Given the description of an element on the screen output the (x, y) to click on. 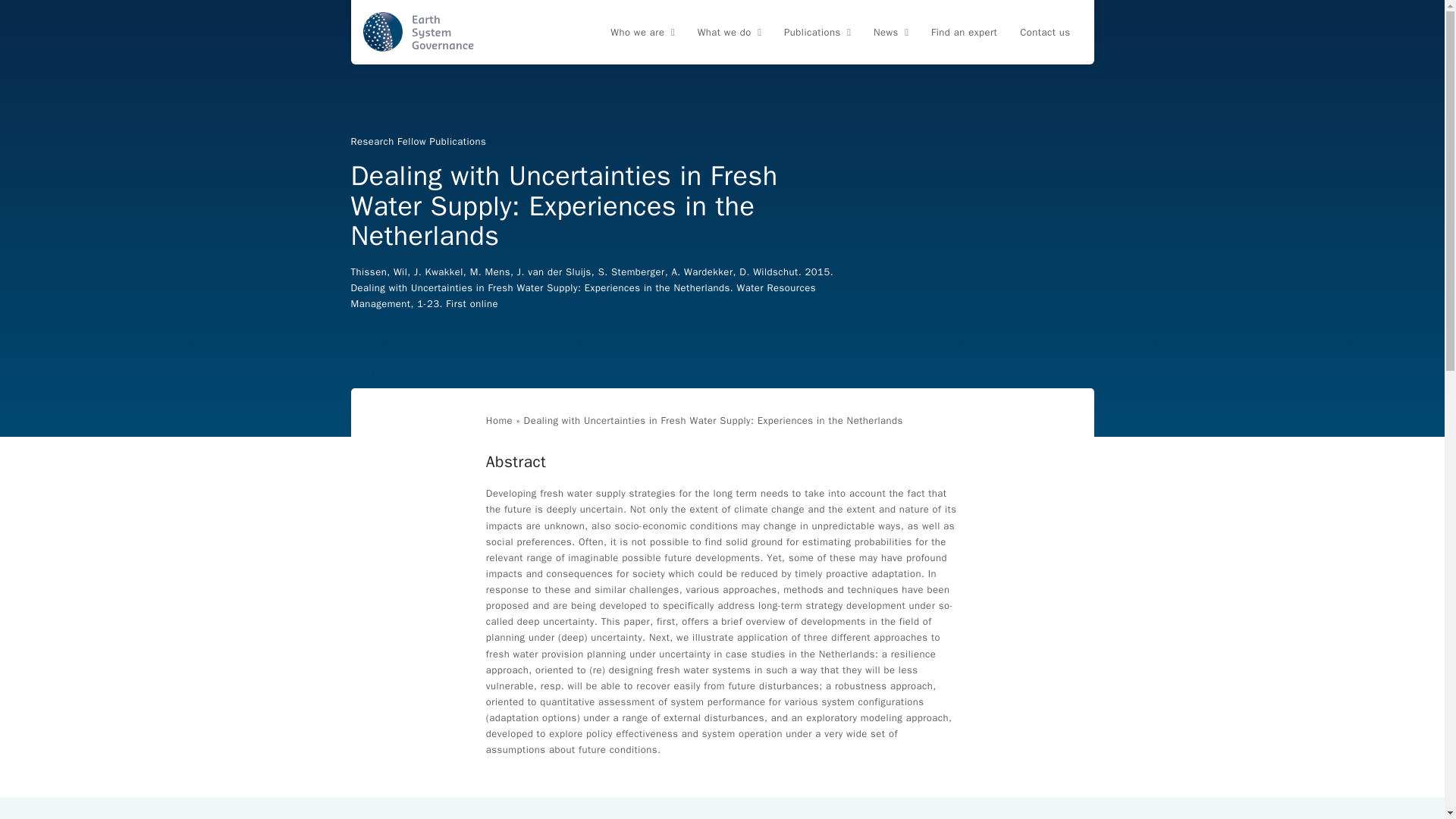
Research Fellow Publications (418, 141)
News (890, 32)
What we do (729, 32)
Home (499, 420)
Who we are (641, 32)
Find an expert (964, 32)
Contact us (1045, 32)
Publications (817, 32)
